Given the description of an element on the screen output the (x, y) to click on. 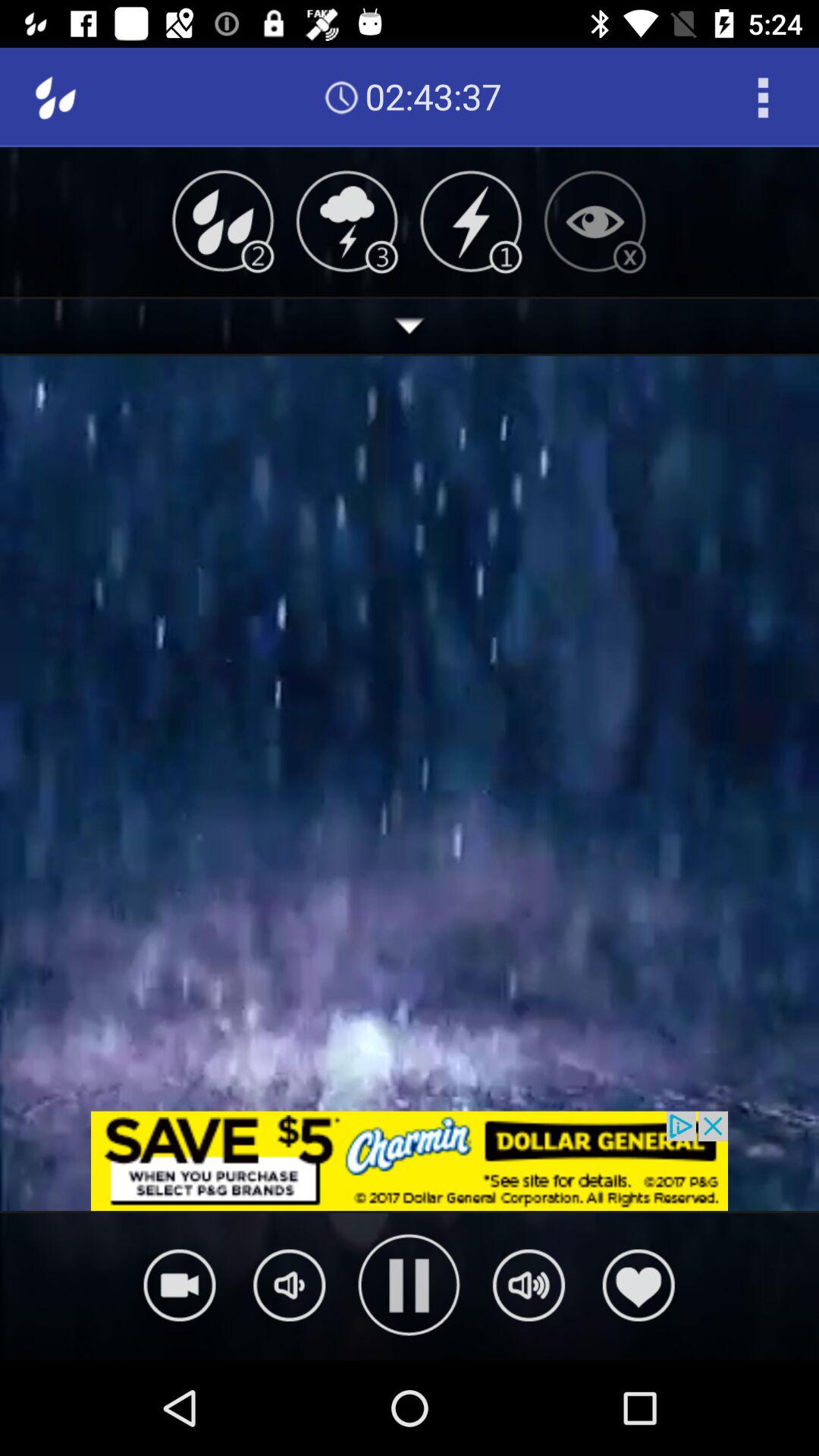
options (763, 97)
